Given the description of an element on the screen output the (x, y) to click on. 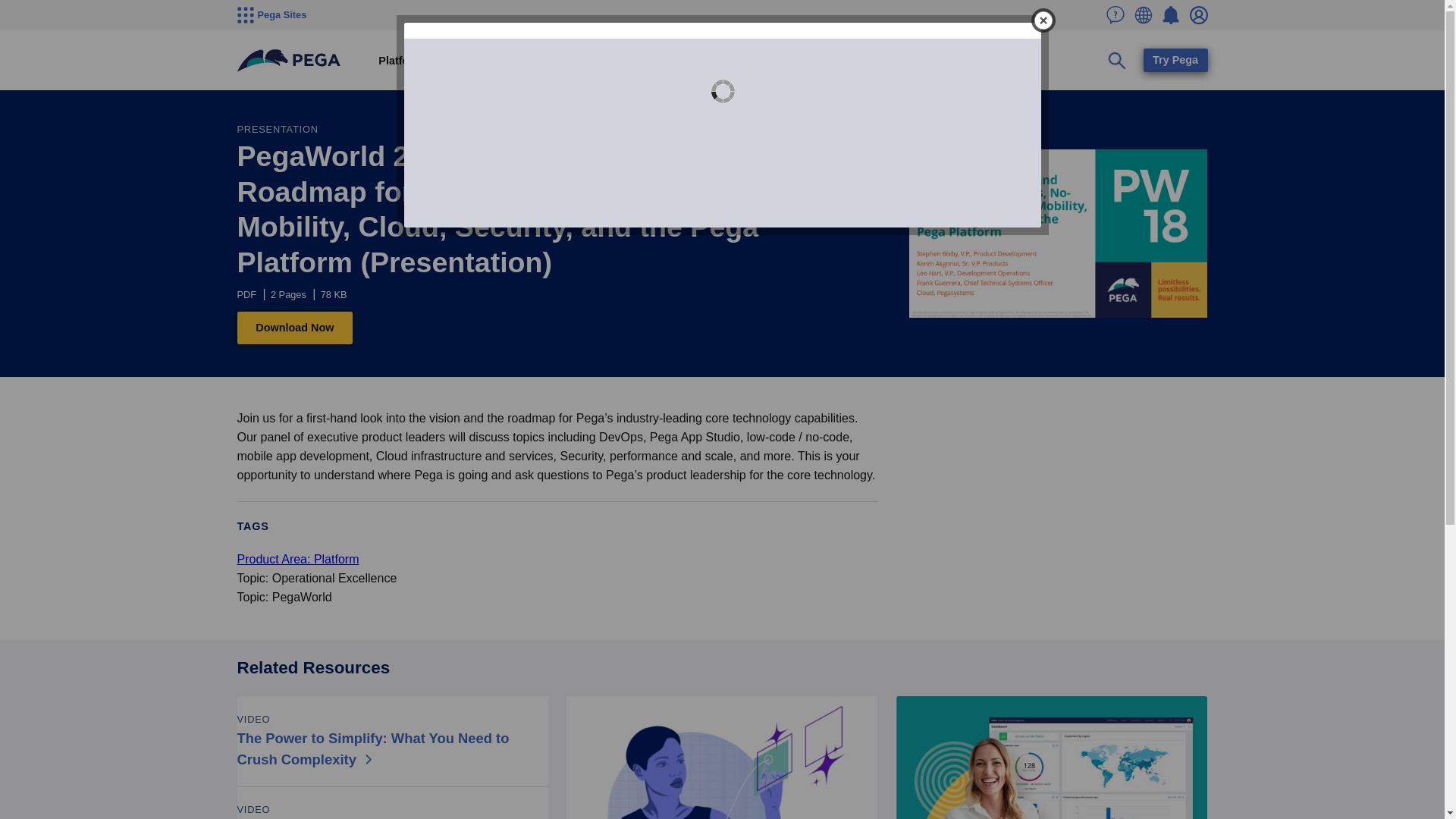
Toggle Search Panel (1117, 60)
Platform (400, 60)
Solutions (466, 60)
